Given the description of an element on the screen output the (x, y) to click on. 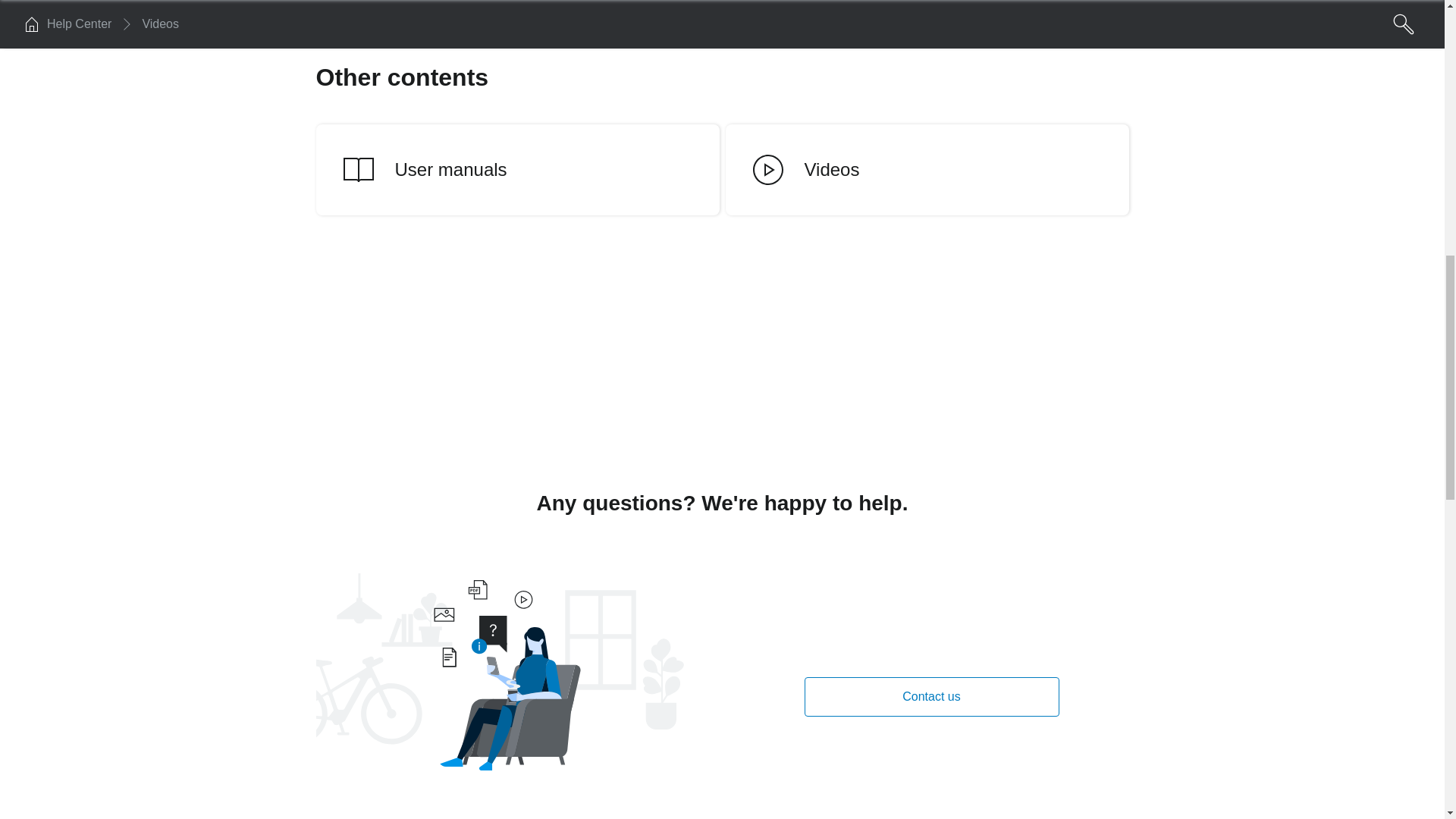
Videos (926, 169)
Contact us (930, 696)
User manuals (517, 169)
